Given the description of an element on the screen output the (x, y) to click on. 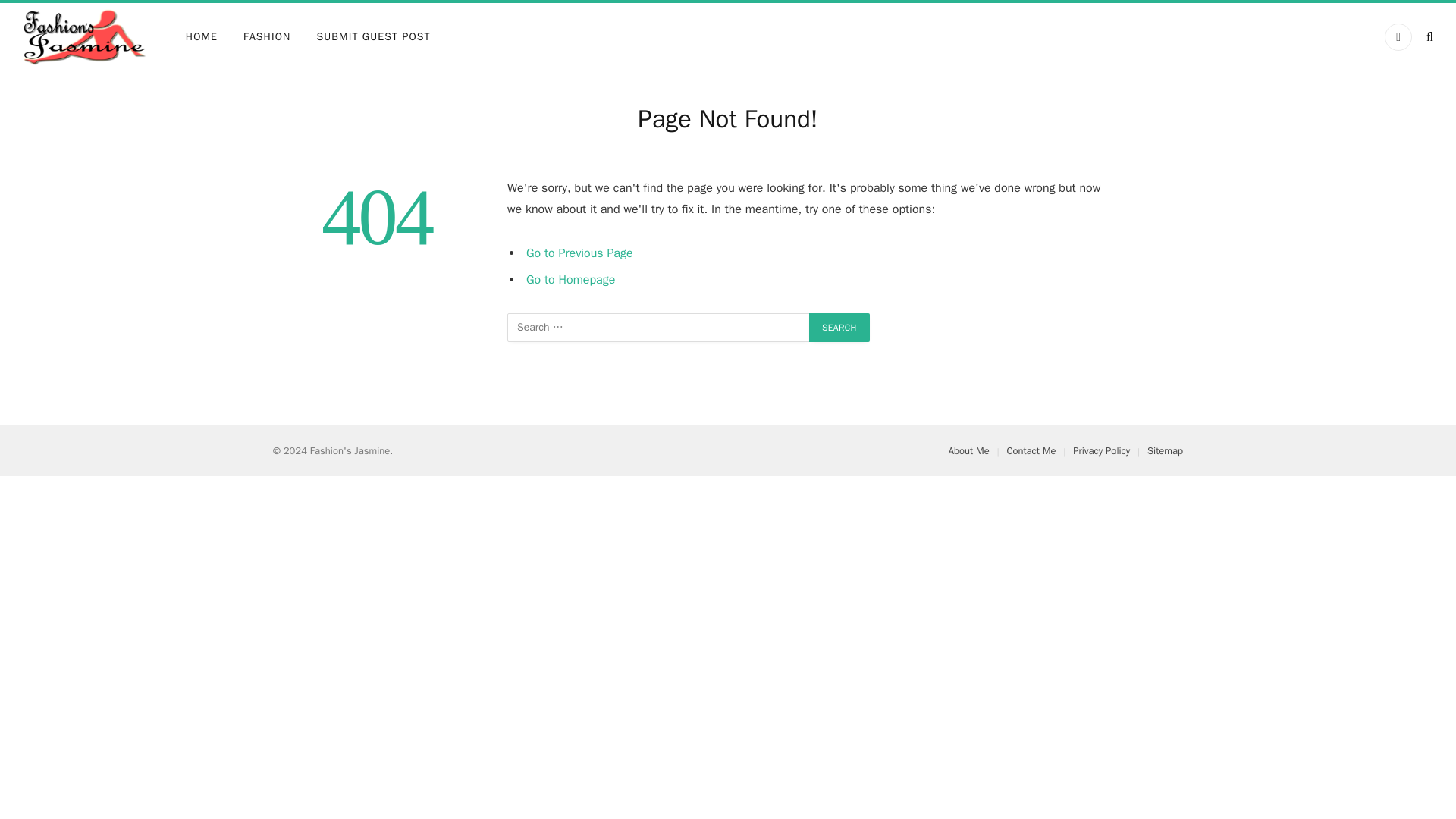
Search (839, 327)
FASHION (266, 37)
Search (839, 327)
Go to Previous Page (579, 253)
Contact Me (1030, 450)
Facebook (1398, 36)
About Me (969, 450)
Fashion's Jasmine (85, 36)
Sitemap (1164, 450)
Go to Homepage (569, 279)
